Given the description of an element on the screen output the (x, y) to click on. 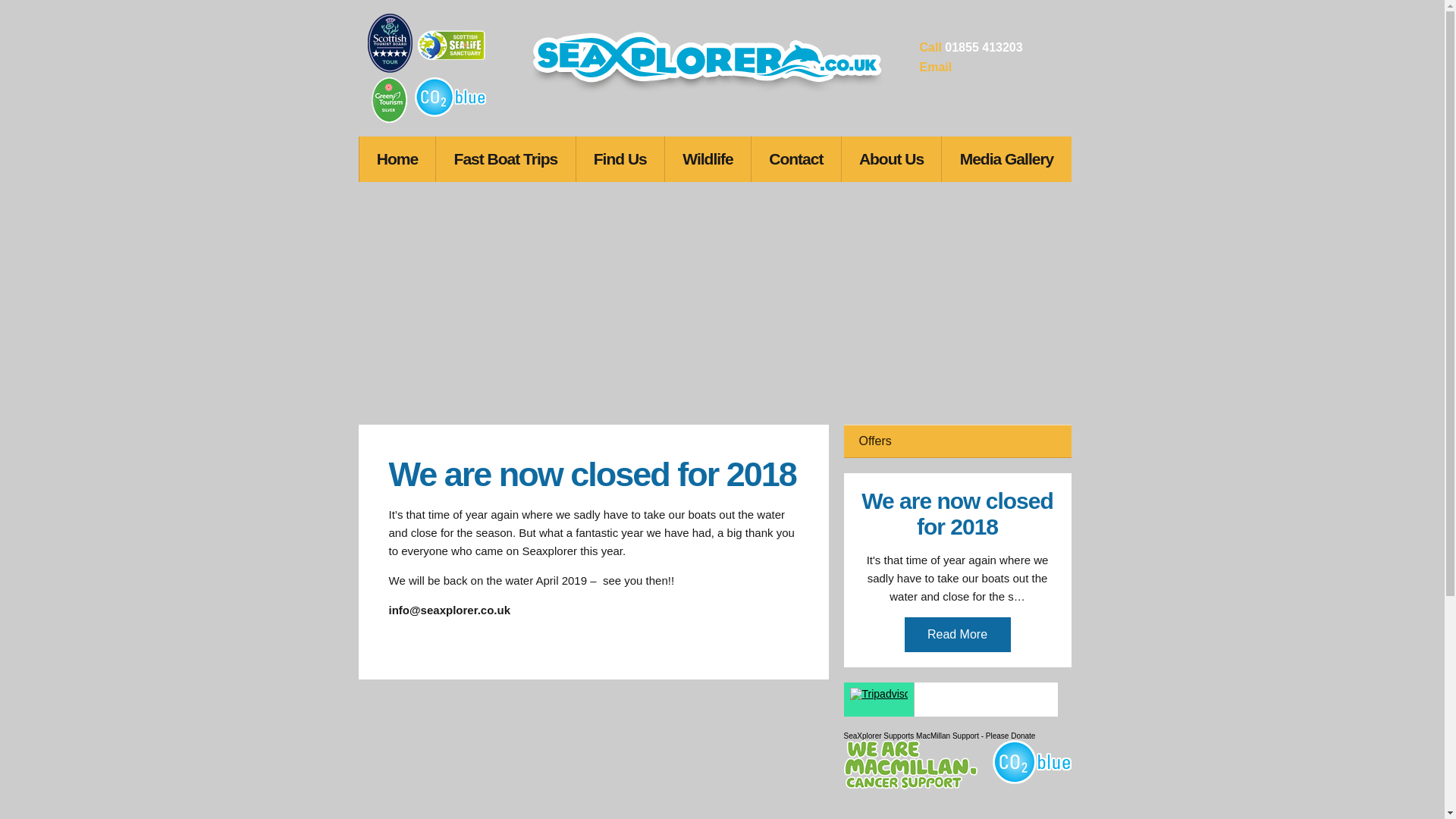
Offers (956, 441)
Wildlife (708, 158)
About Us (891, 158)
Contact (796, 158)
Home (397, 158)
Fast Boat Trips (505, 158)
Media Gallery (1006, 158)
Find Us (619, 158)
